Given the description of an element on the screen output the (x, y) to click on. 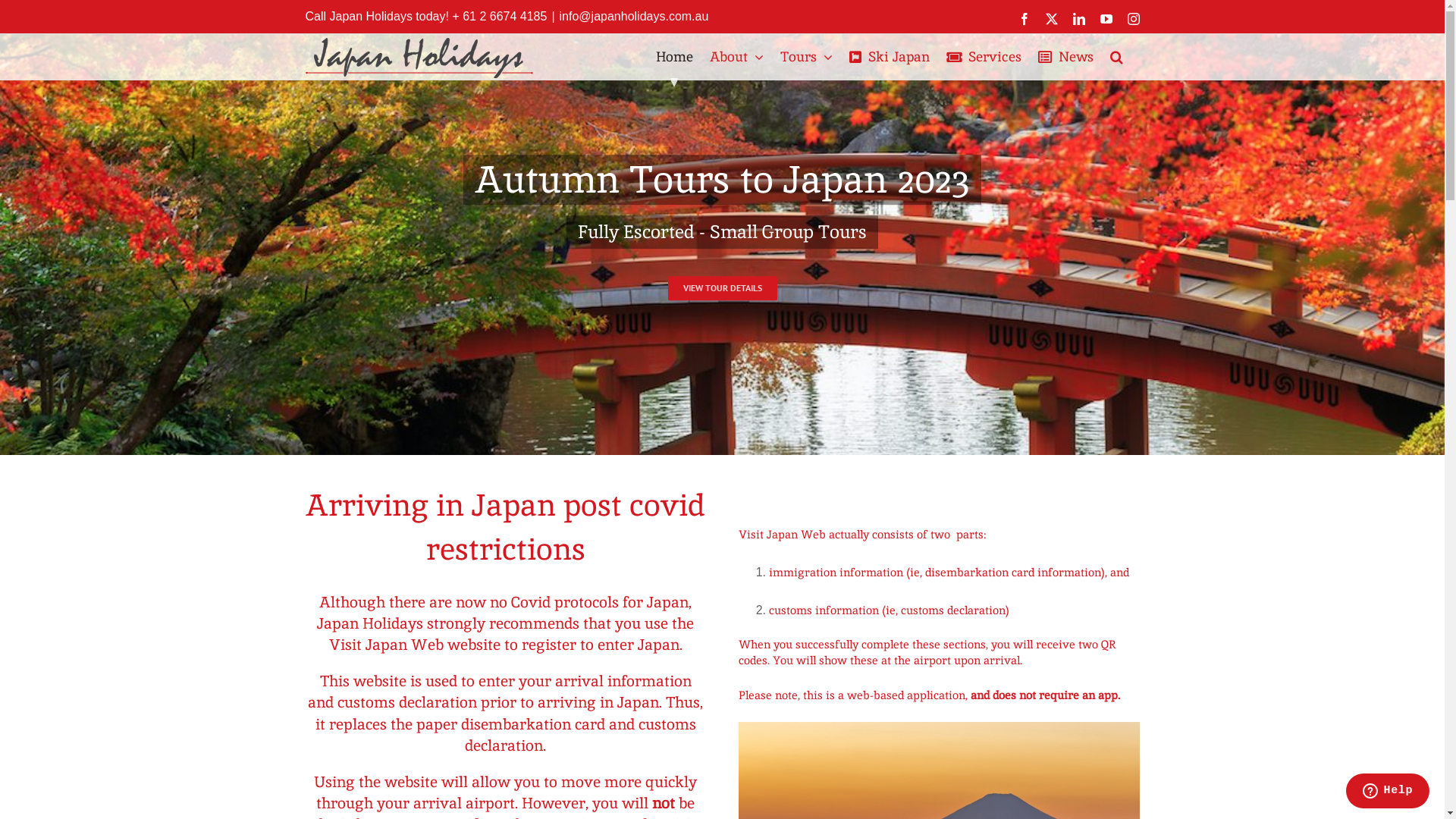
Ski Japan Element type: text (889, 56)
Home Element type: text (673, 56)
About Element type: text (736, 56)
Tours Element type: text (805, 56)
YouTube Element type: text (1106, 18)
Search Element type: hover (1116, 56)
Services Element type: text (983, 56)
Opens a widget where you can chat to one of our agents Element type: hover (1387, 792)
Twitter Element type: text (1051, 18)
Facebook Element type: text (1024, 18)
Instagram Element type: text (1133, 18)
LinkedIn Element type: text (1079, 18)
VIEW TOUR DETAILS Element type: text (721, 288)
info@japanholidays.com.au Element type: text (634, 15)
News Element type: text (1064, 56)
